Given the description of an element on the screen output the (x, y) to click on. 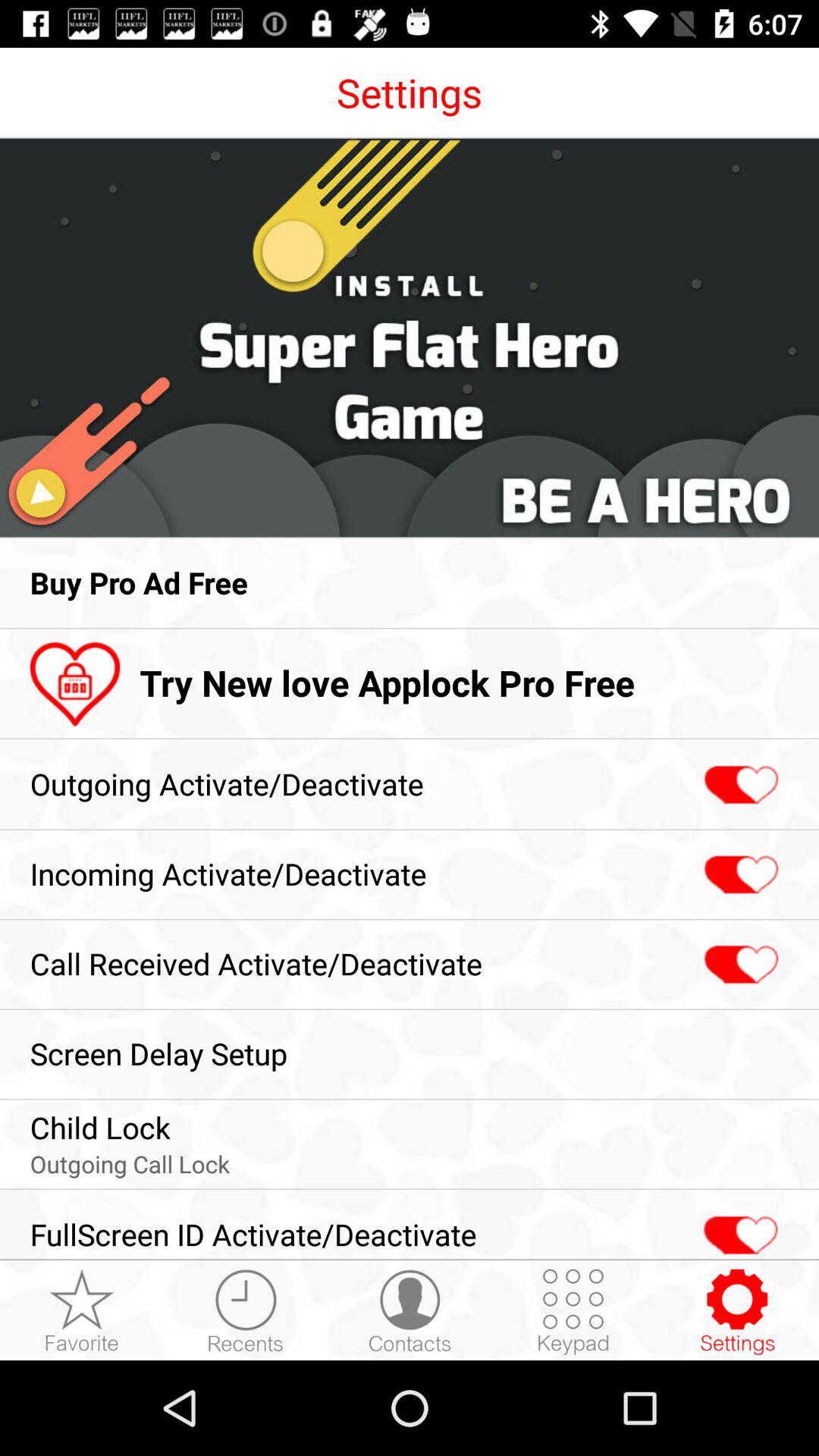
recent (245, 1311)
